Given the description of an element on the screen output the (x, y) to click on. 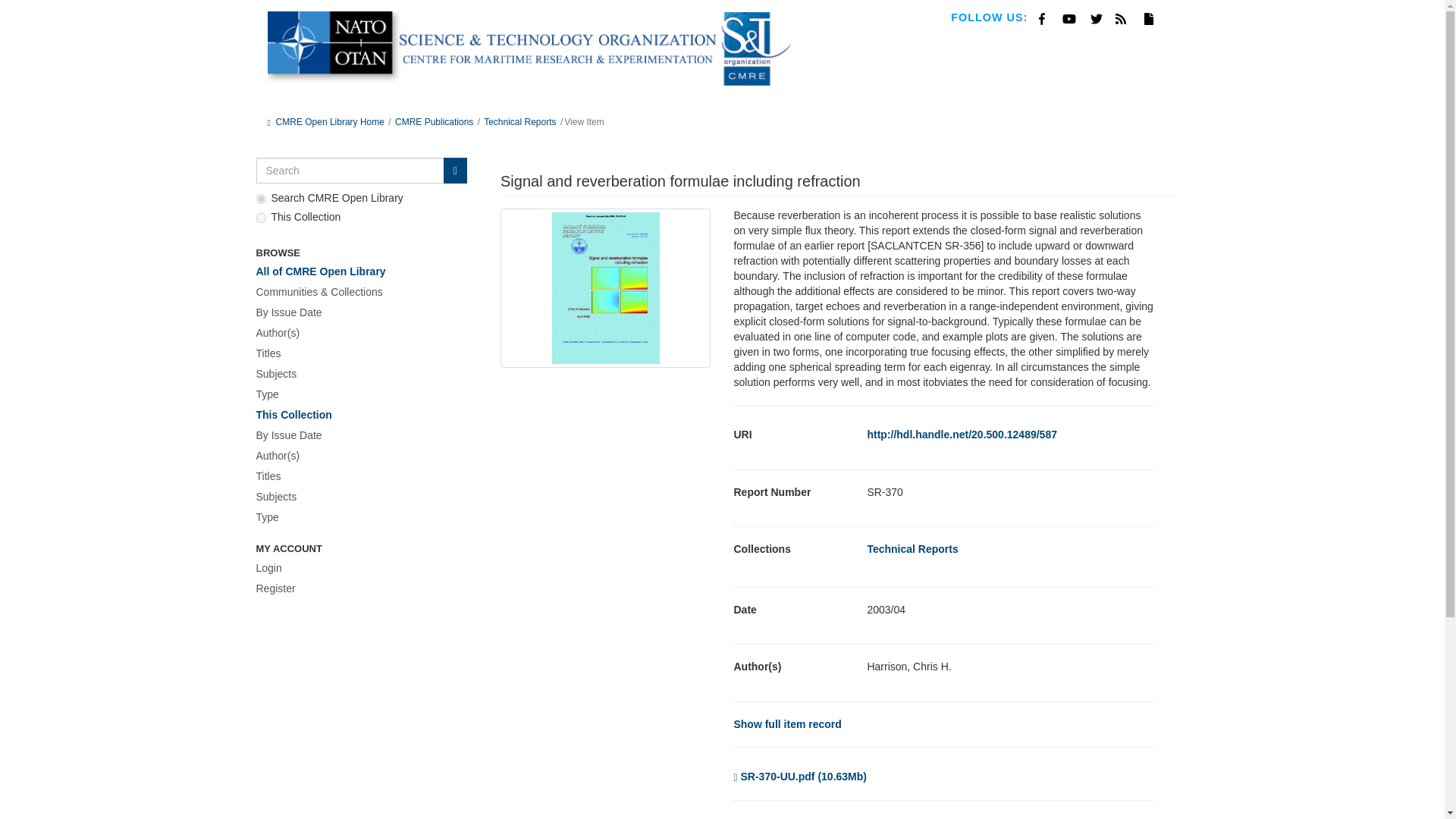
By Issue Date (357, 312)
Go (455, 170)
Subjects (357, 496)
Titles (357, 353)
Titles (357, 476)
All of CMRE Open Library (357, 271)
Technical Reports (912, 548)
Register (357, 588)
Login (357, 568)
Type (357, 517)
